Given the description of an element on the screen output the (x, y) to click on. 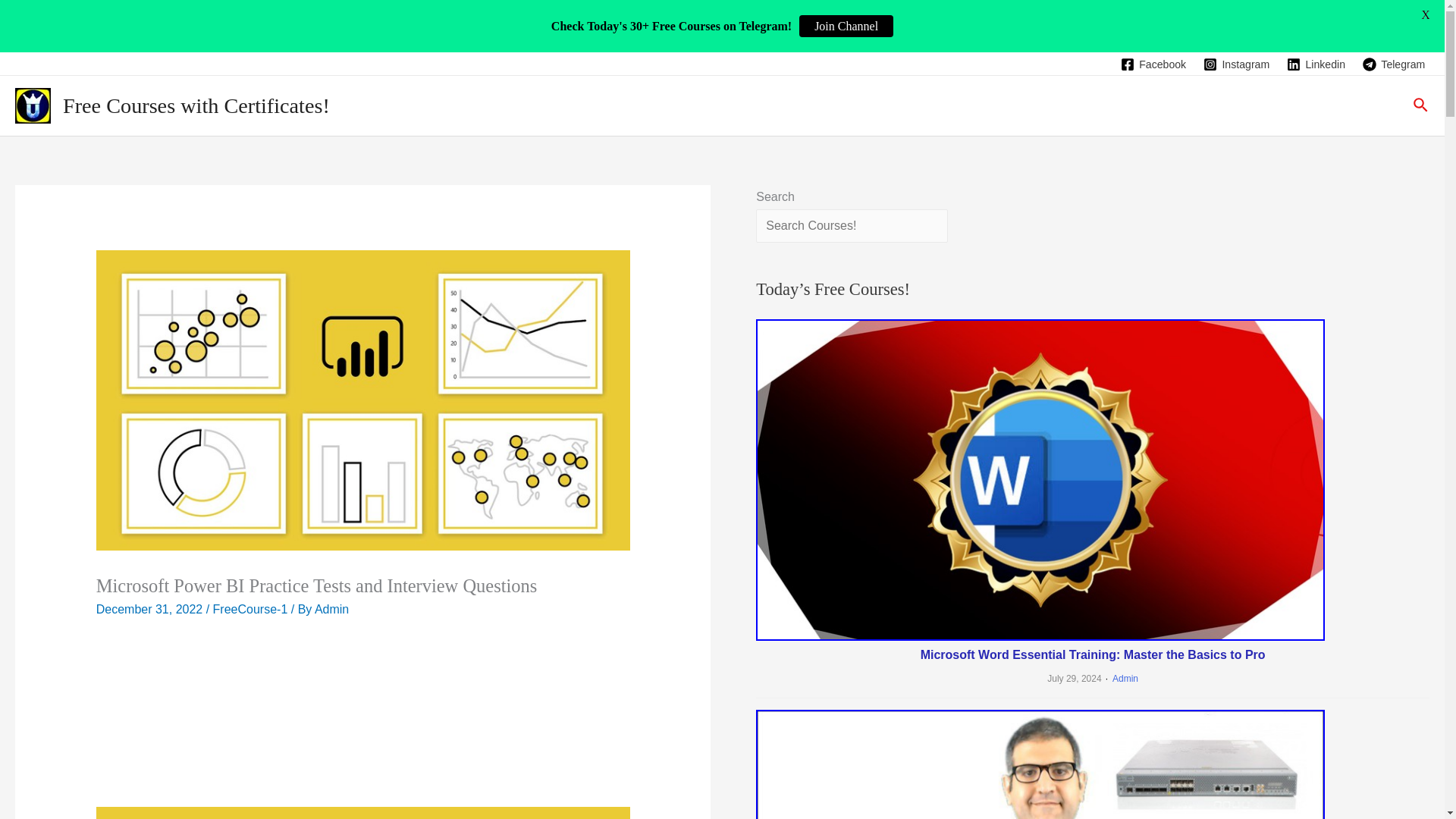
FreeCourse-1 (250, 608)
Admin (1120, 678)
Telegram (1393, 64)
Microsoft Word Essential Training: Master the Basics to Pro (1092, 654)
Free Courses with Certificates! (196, 105)
Admin (331, 608)
View all posts by Admin (331, 608)
Linkedin (1315, 64)
Instagram (1236, 64)
Advertisement (363, 700)
Facebook (1153, 64)
